Given the description of an element on the screen output the (x, y) to click on. 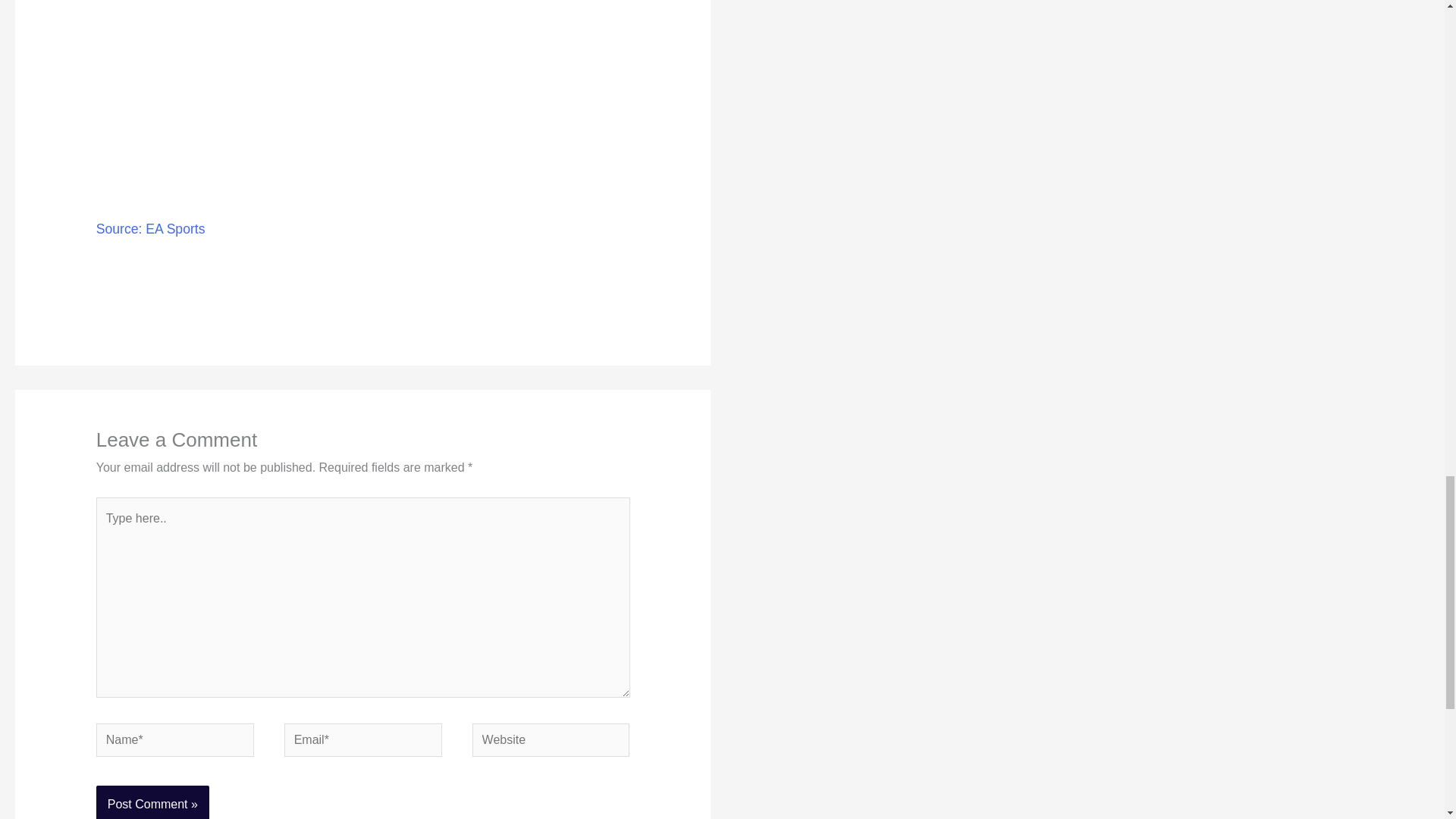
FIFA 14 Cover for Australia Featuring Tim Cahill (363, 65)
Source: EA Sports (150, 228)
